Given the description of an element on the screen output the (x, y) to click on. 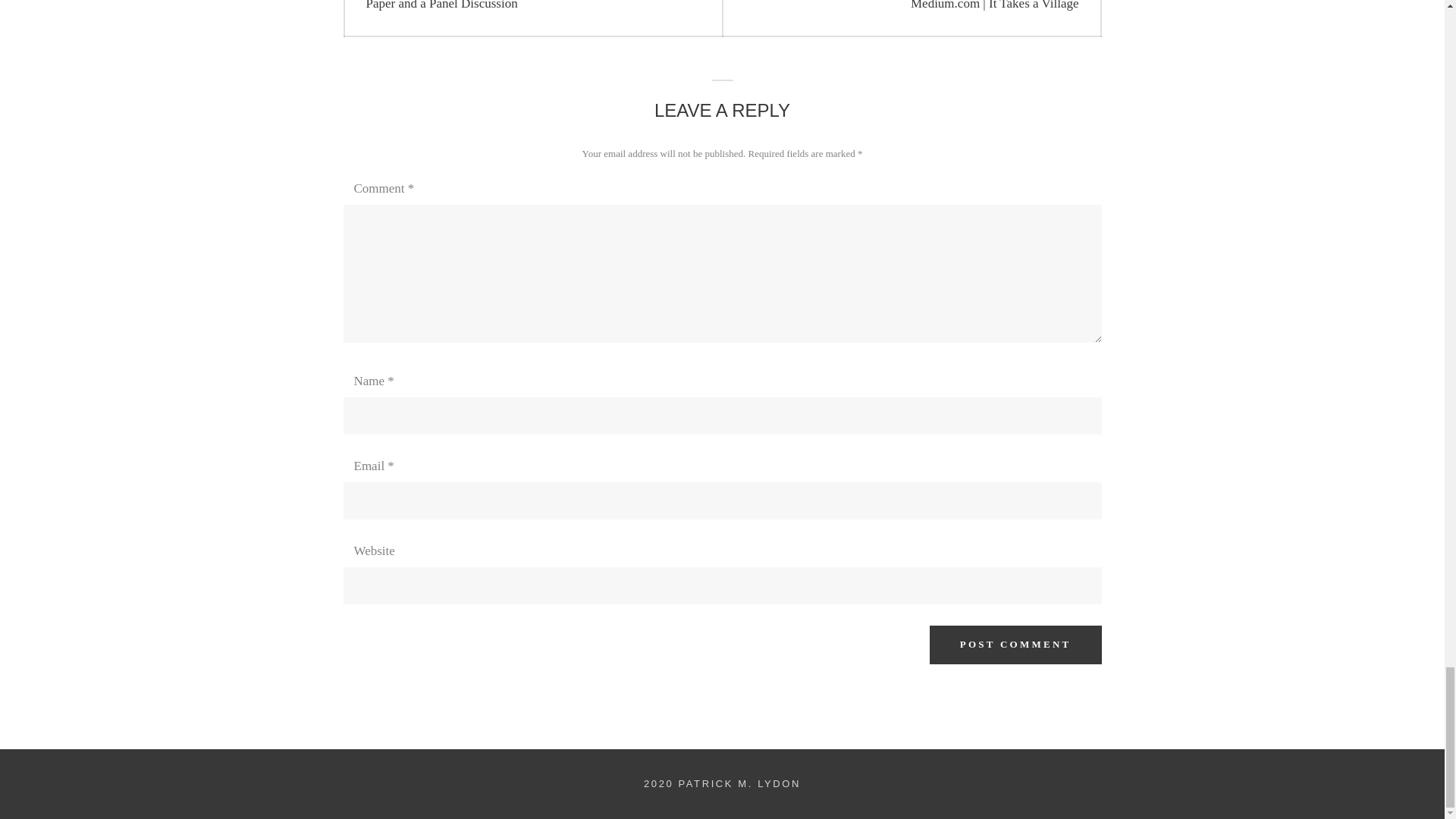
Post Comment (531, 18)
Post Comment (1016, 644)
